Given the description of an element on the screen output the (x, y) to click on. 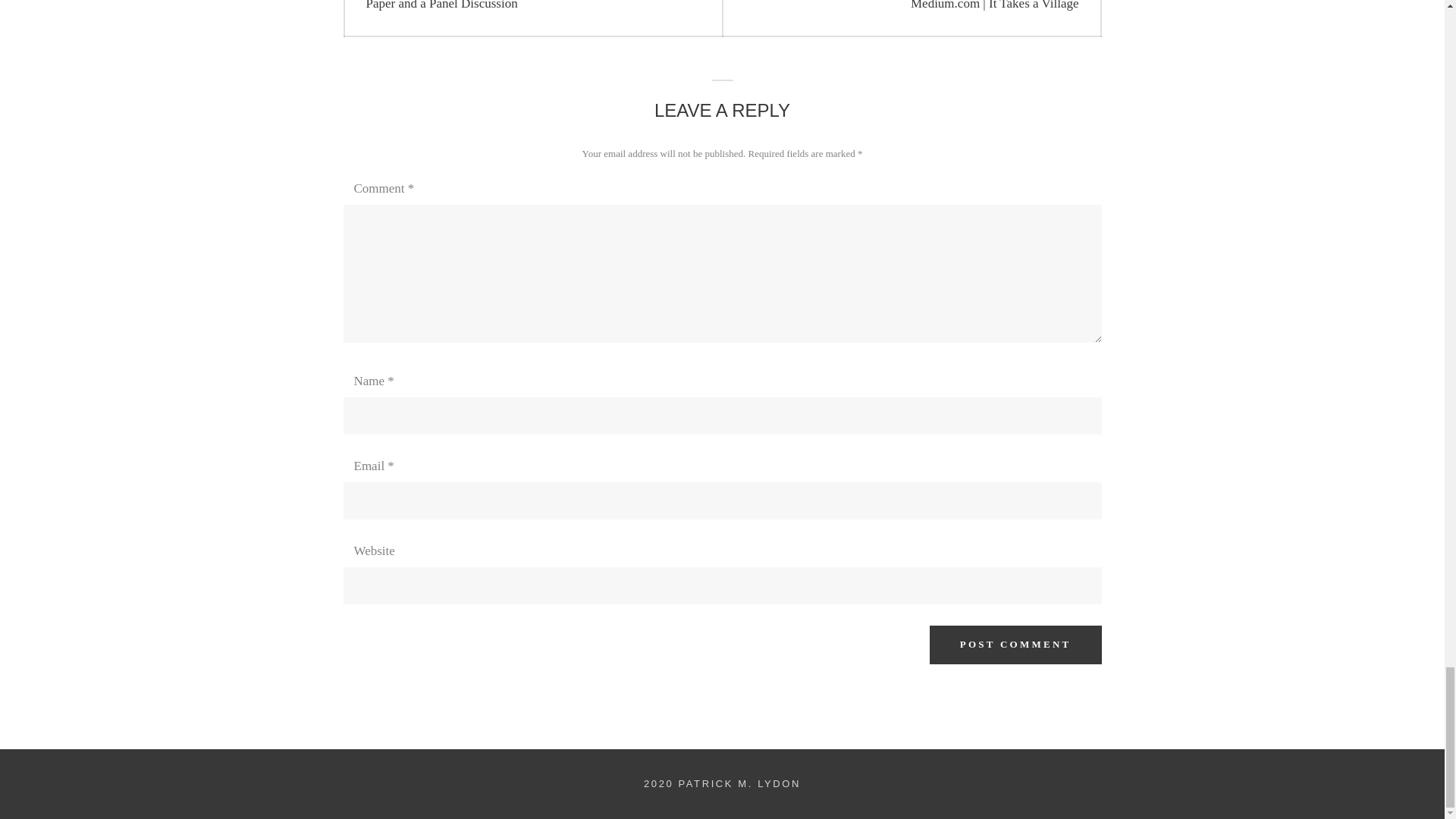
Post Comment (531, 18)
Post Comment (1016, 644)
